Given the description of an element on the screen output the (x, y) to click on. 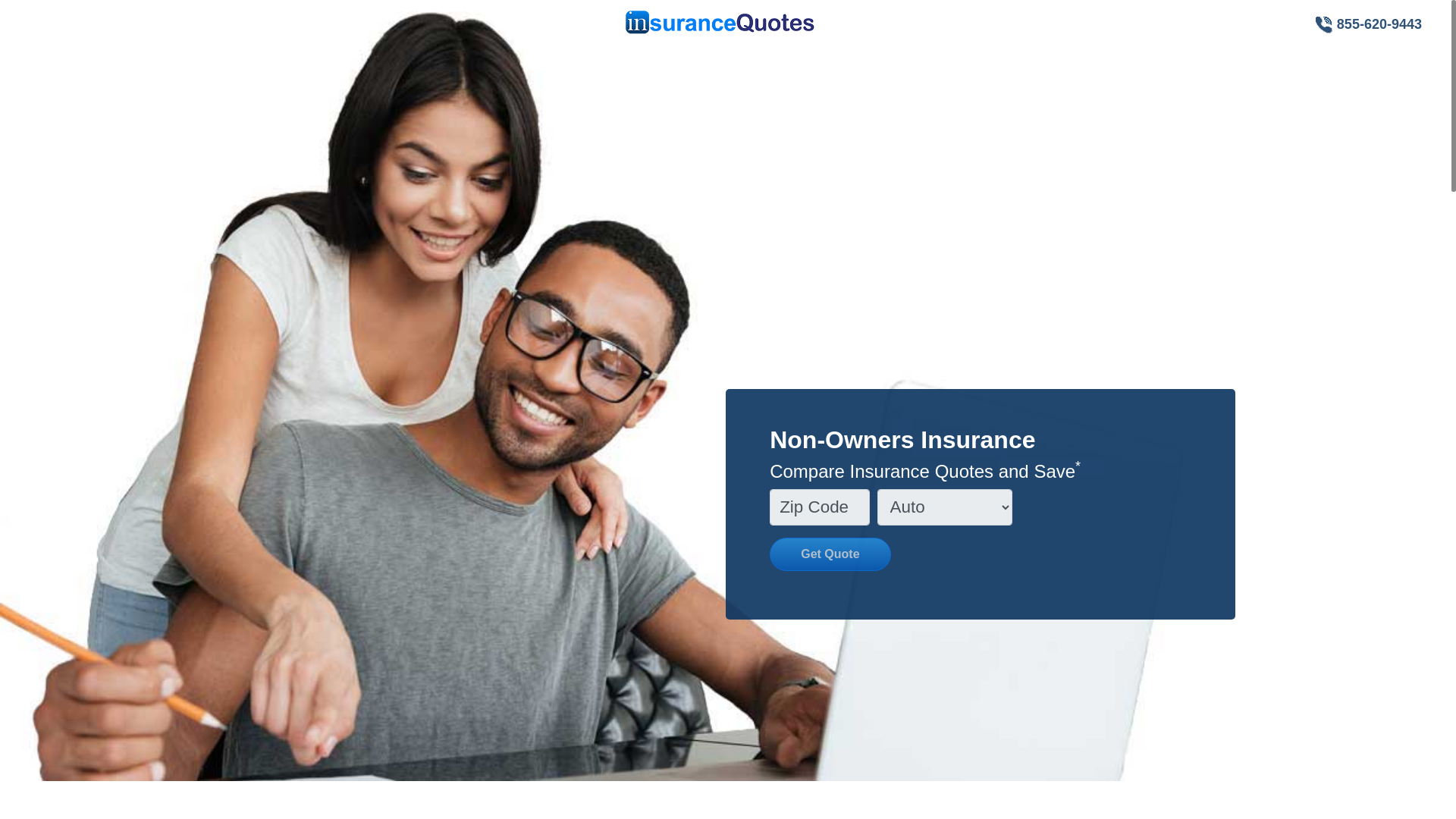
Zip Code (819, 506)
855-620-9443 (1368, 24)
Get Quote (829, 554)
